Given the description of an element on the screen output the (x, y) to click on. 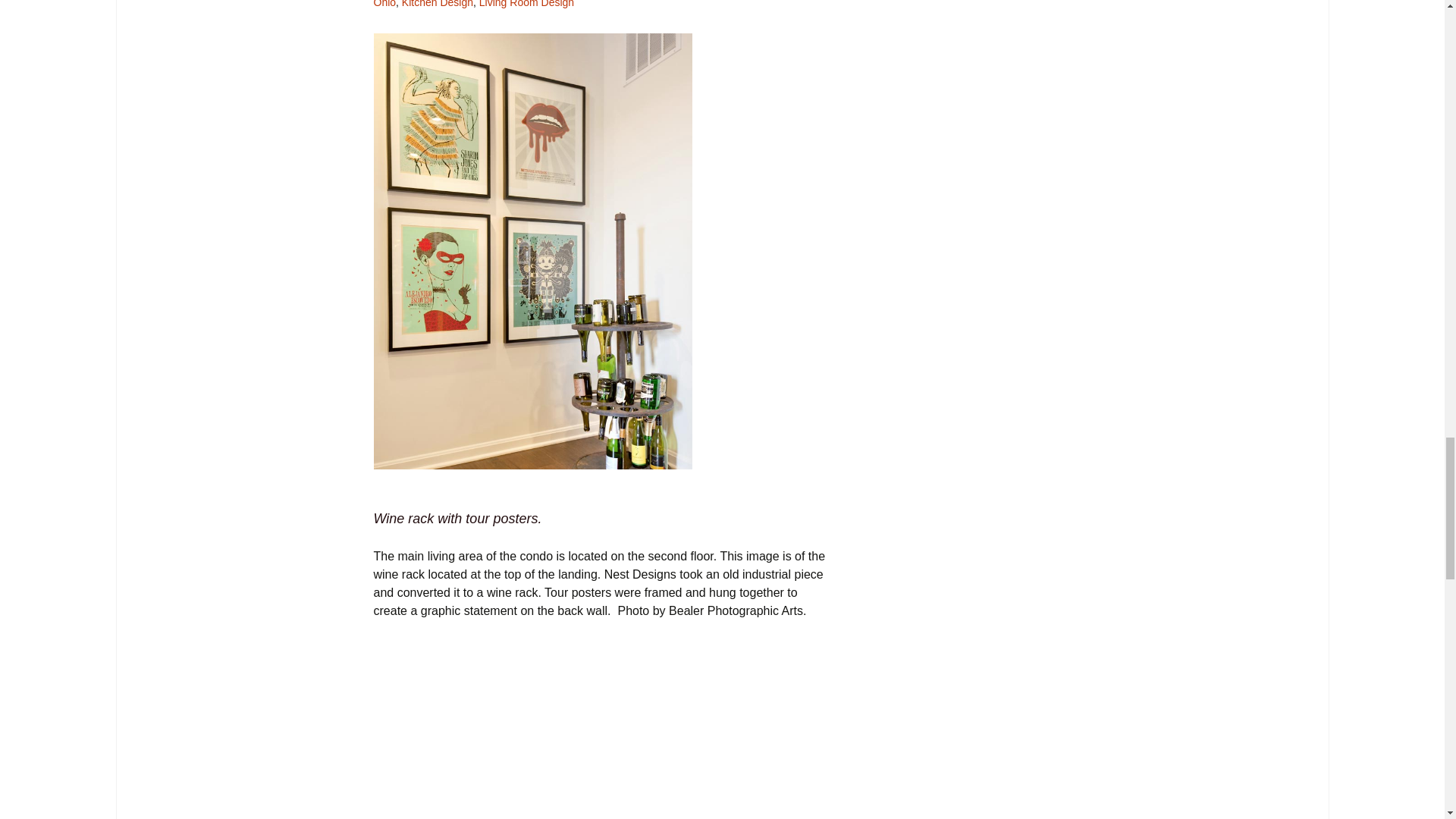
Interior Designer - Dayton Ohio (595, 4)
Living Room Design (526, 4)
Living area  (601, 728)
Kitchen Design (437, 4)
